Given the description of an element on the screen output the (x, y) to click on. 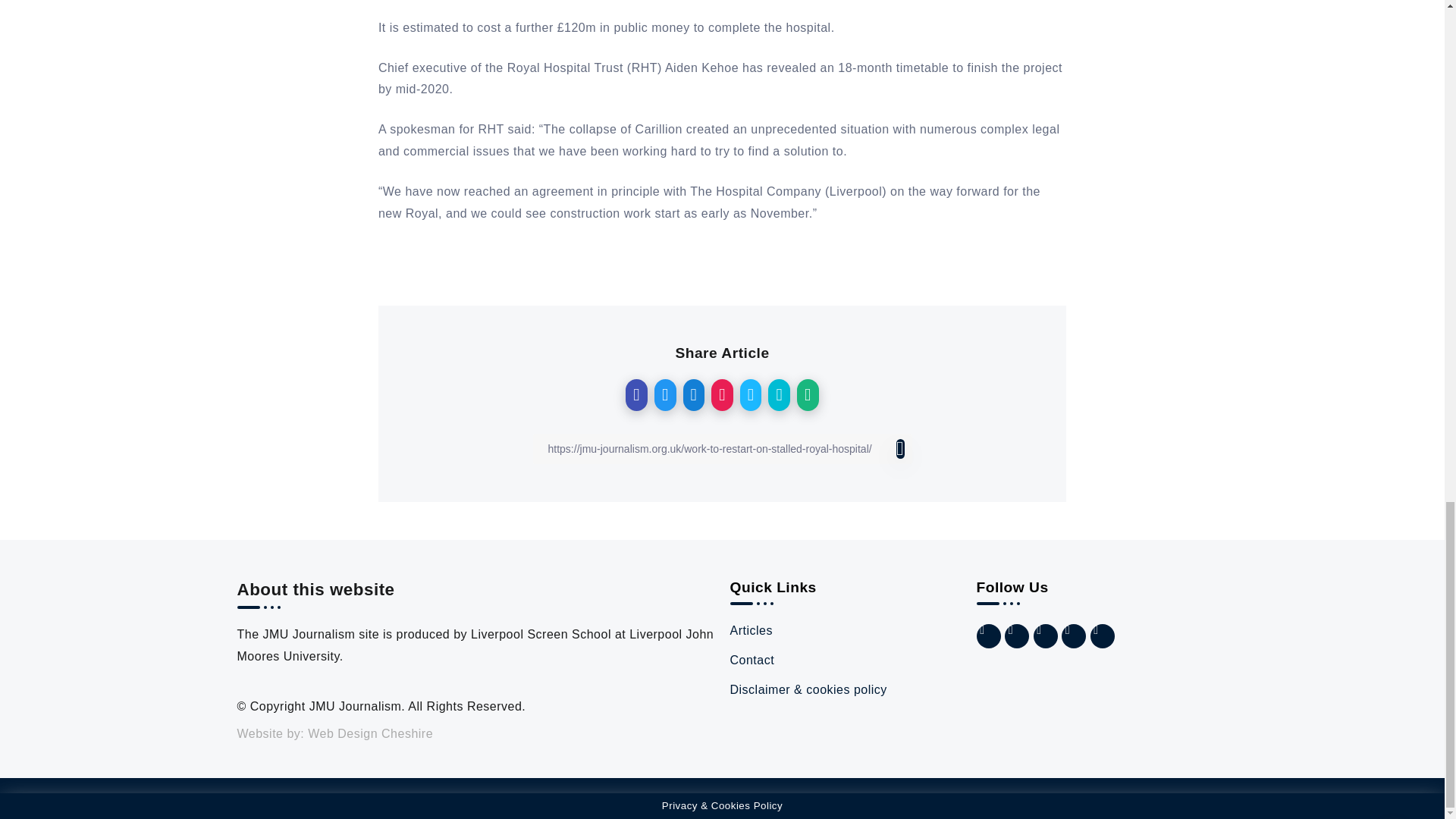
Articles (844, 630)
Web Design Cheshire (369, 733)
Contact (844, 660)
